Given the description of an element on the screen output the (x, y) to click on. 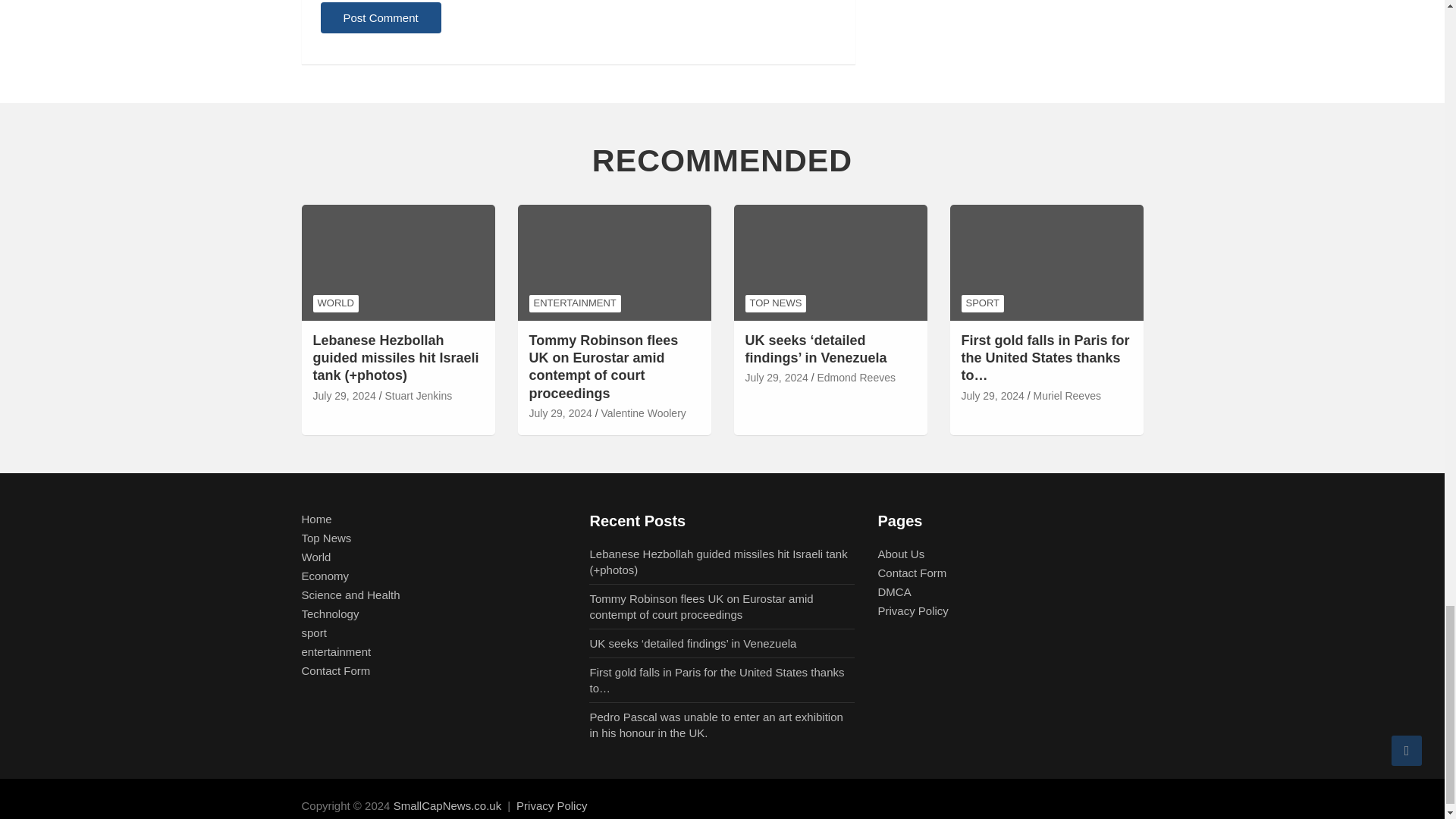
SmallCapNews.co.uk (447, 805)
Post Comment (380, 17)
Post Comment (380, 17)
